Given the description of an element on the screen output the (x, y) to click on. 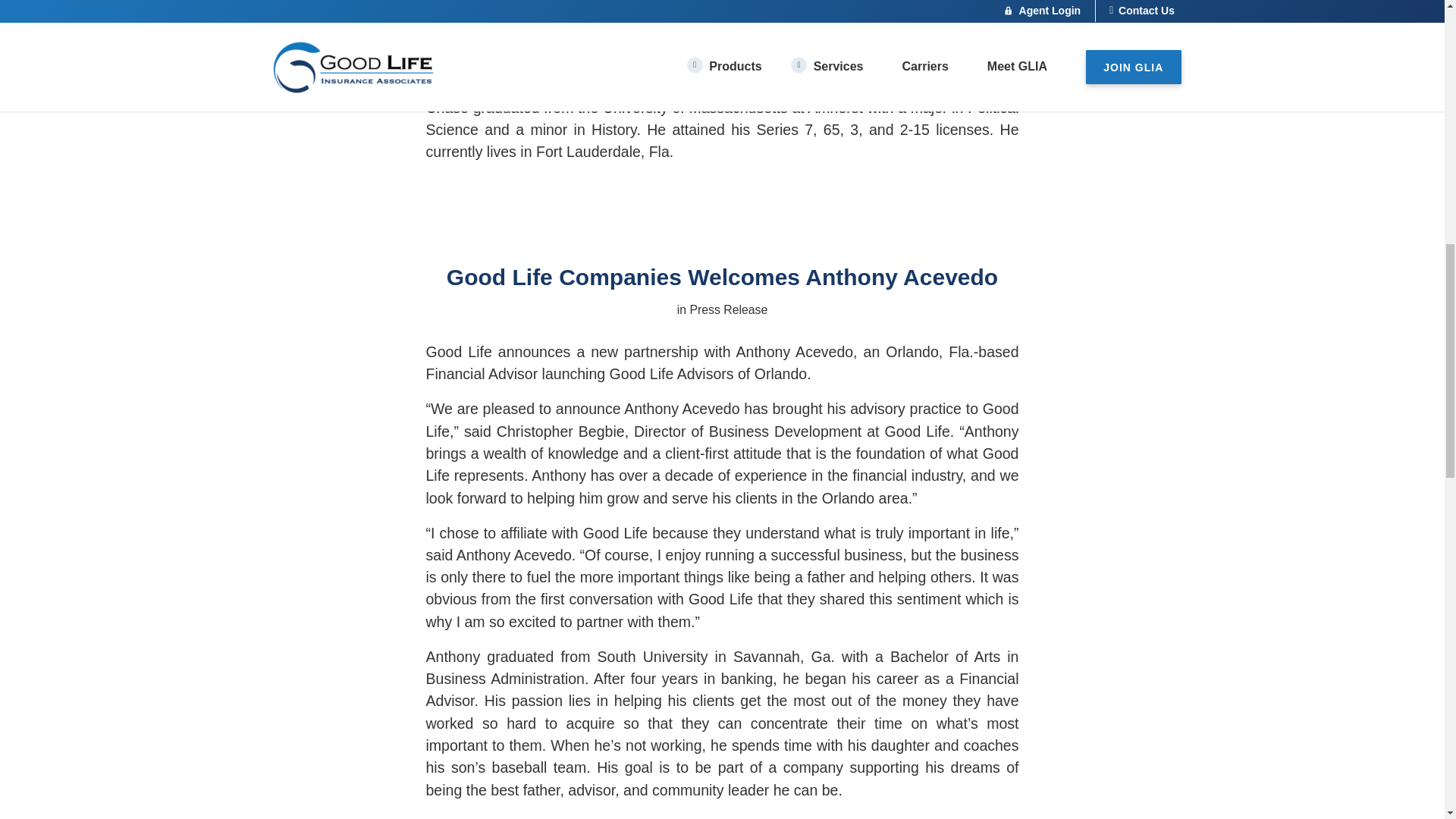
Press Release (727, 309)
Permanent Link: Good Life Companies Welcomes Anthony Acevedo (721, 276)
Good Life Companies Welcomes Anthony Acevedo (721, 276)
